Given the description of an element on the screen output the (x, y) to click on. 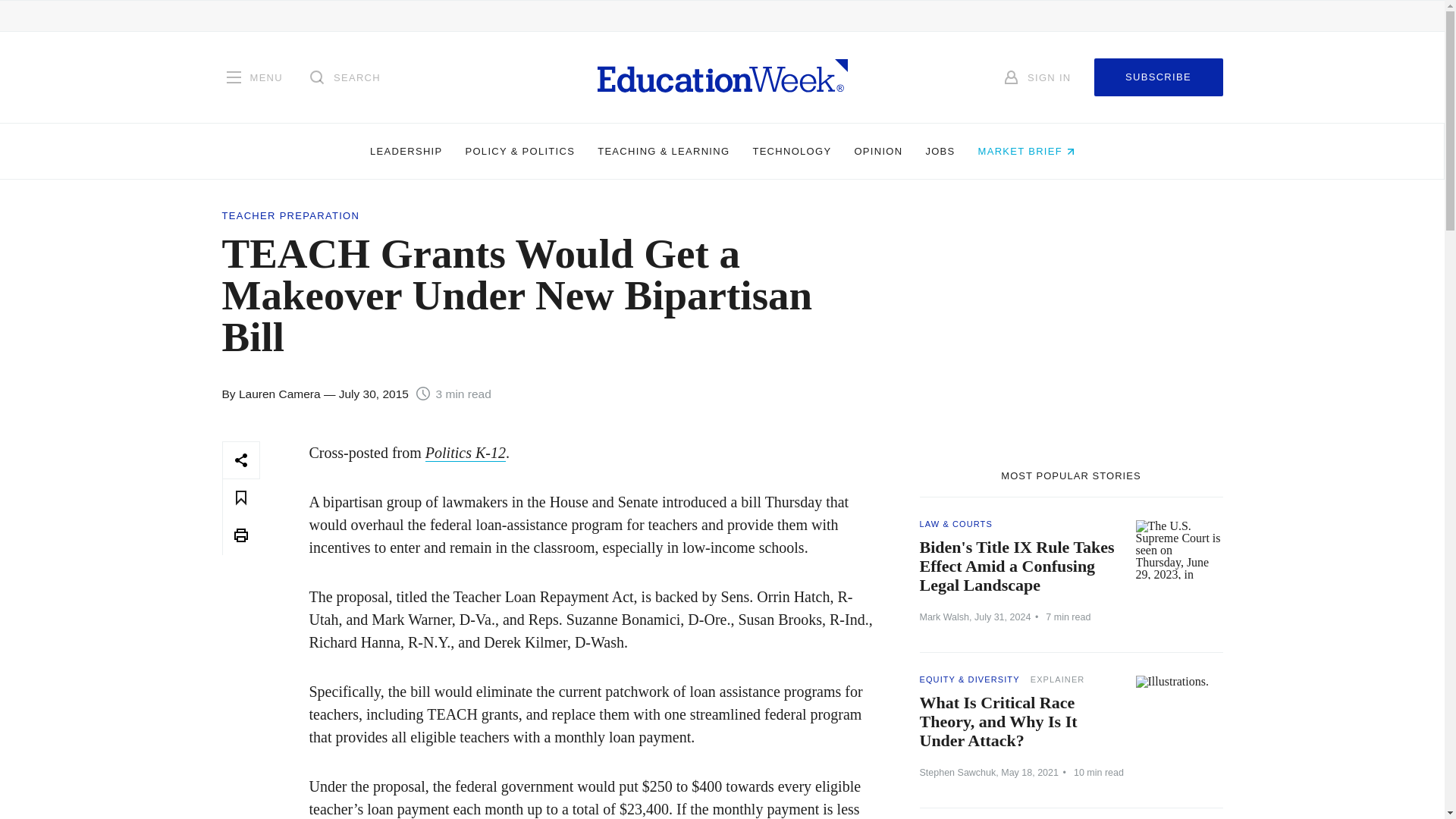
Homepage (721, 76)
